Given the description of an element on the screen output the (x, y) to click on. 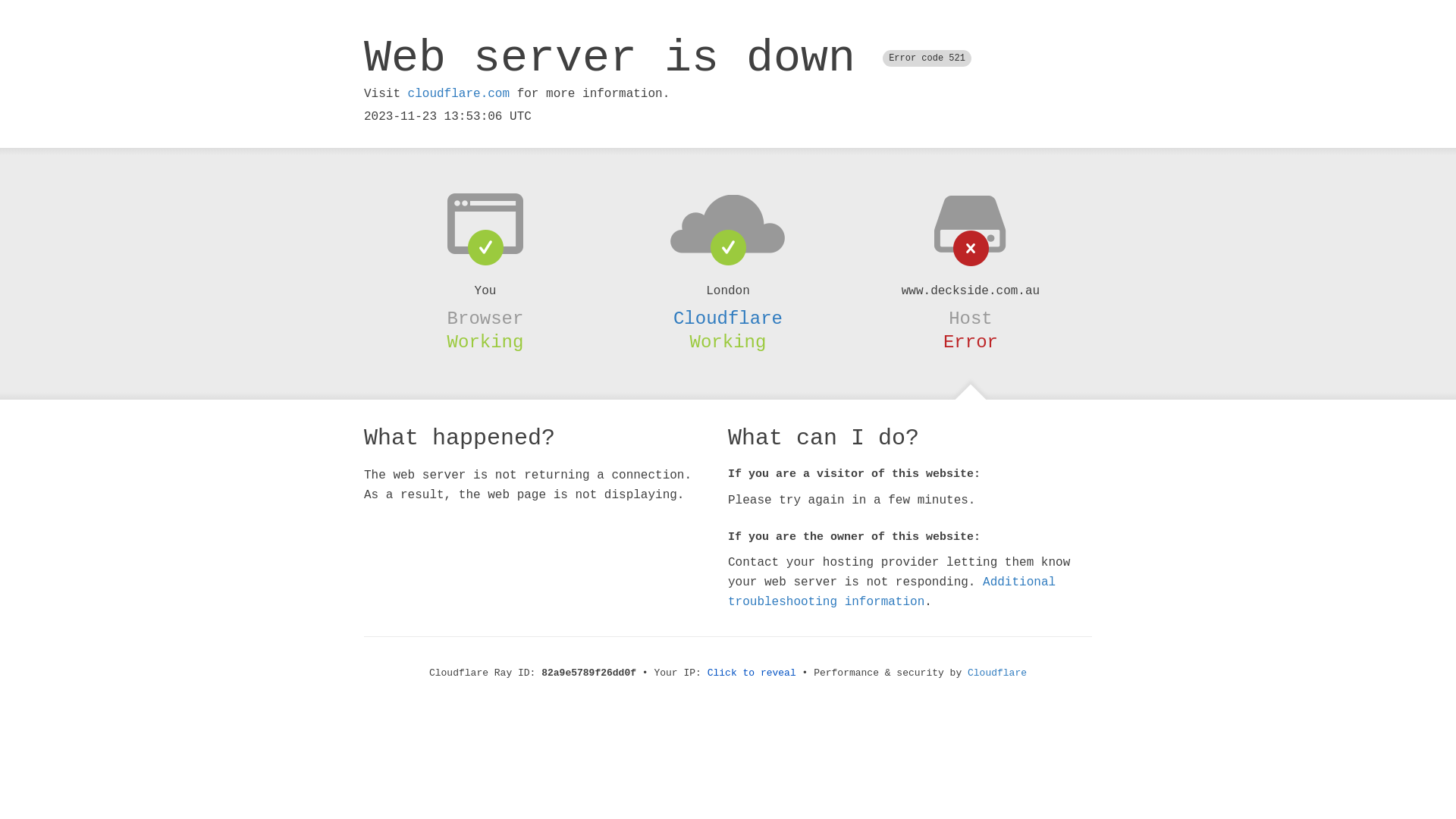
Additional troubleshooting information Element type: text (891, 591)
Click to reveal Element type: text (751, 672)
Cloudflare Element type: text (996, 672)
Cloudflare Element type: text (727, 318)
cloudflare.com Element type: text (458, 93)
